Given the description of an element on the screen output the (x, y) to click on. 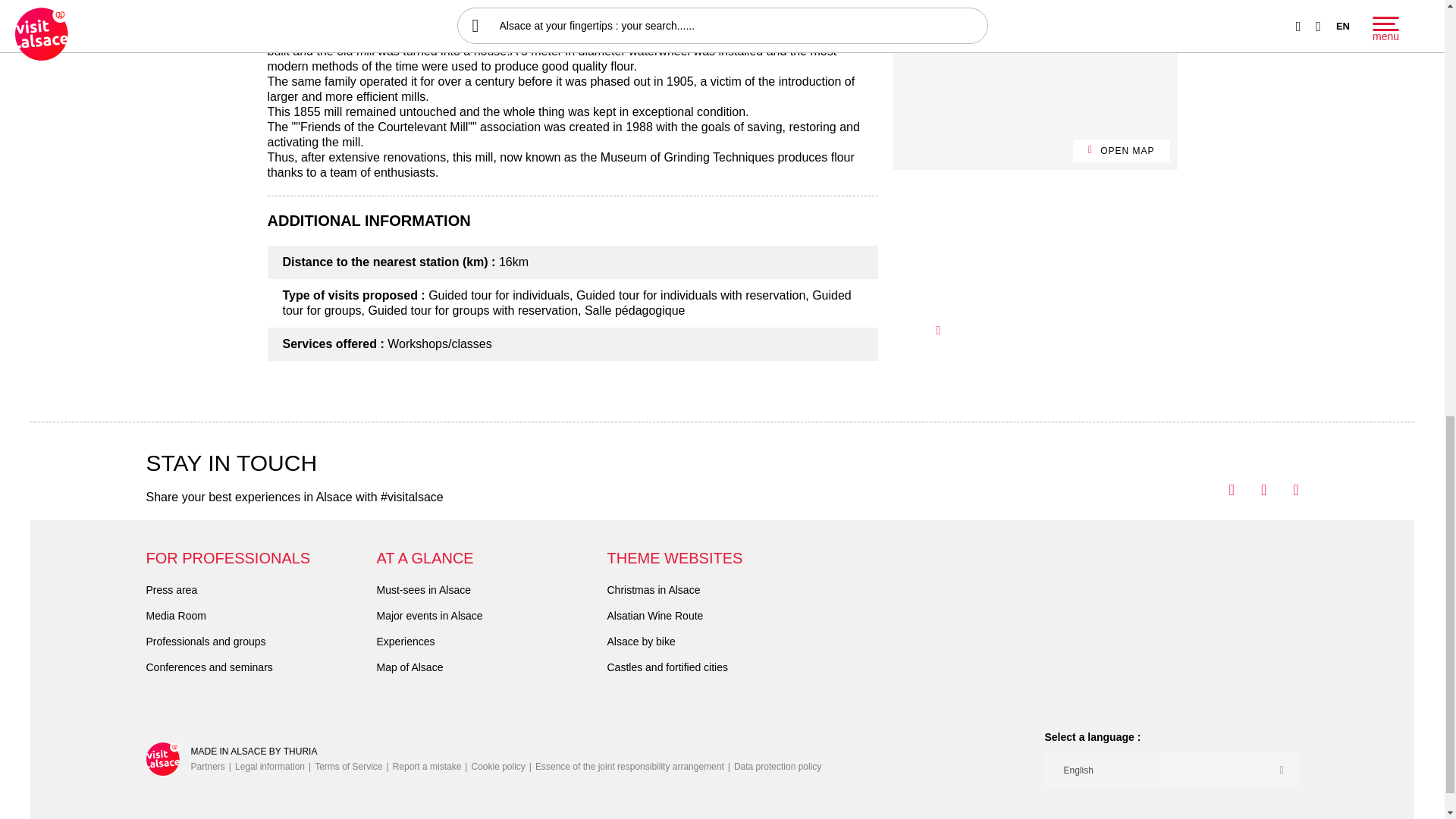
Instagram VisitAlsace (1282, 489)
Youtube VisitAlsace (1250, 489)
Facebook VisitAlsace (1218, 489)
